Given the description of an element on the screen output the (x, y) to click on. 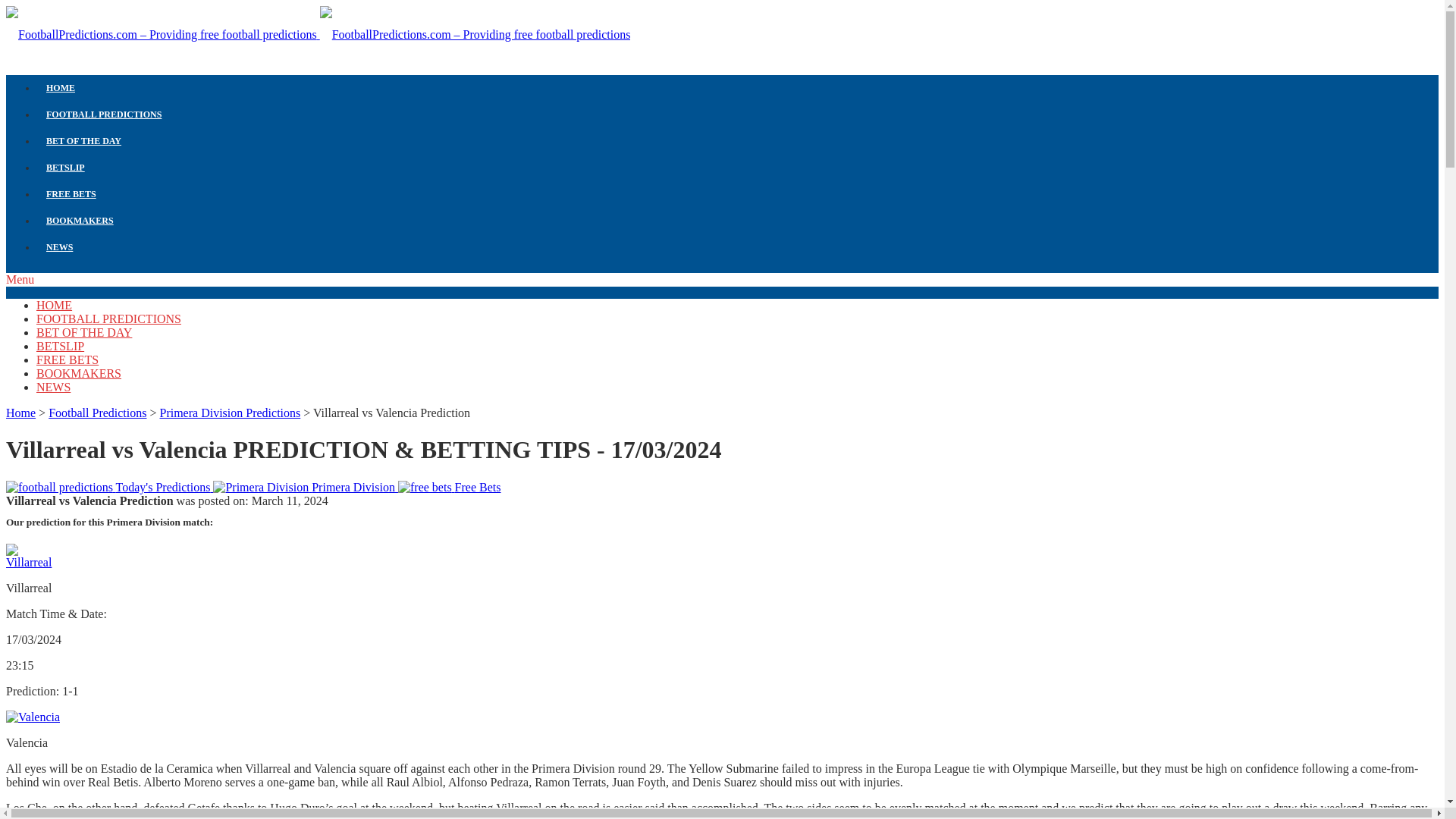
FOOTBALL PREDICTIONS (737, 114)
HOME (737, 88)
